Given the description of an element on the screen output the (x, y) to click on. 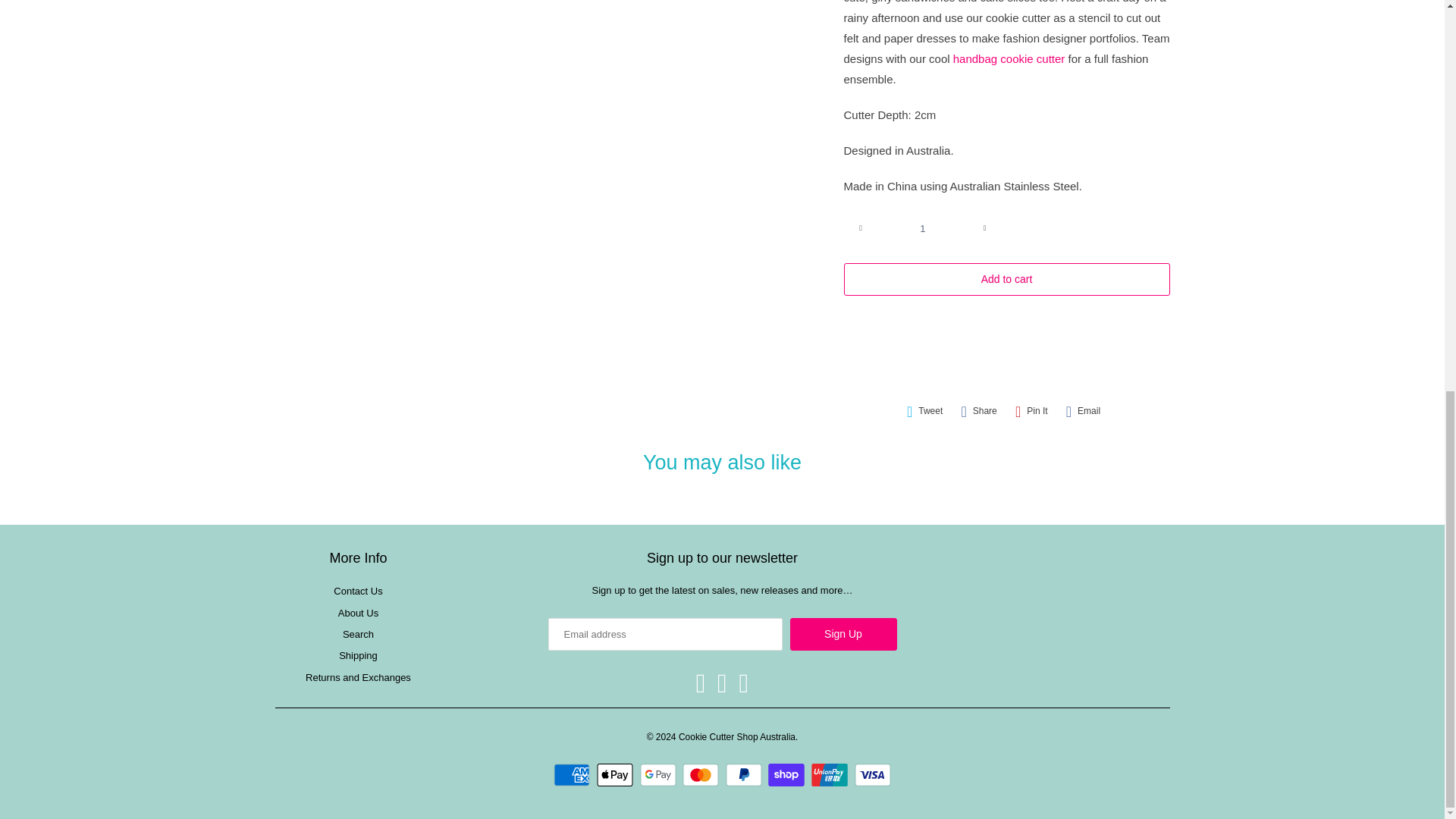
Shop Pay (788, 774)
Visa (872, 774)
PayPal (745, 774)
Share this on Facebook (978, 411)
American Express (573, 774)
Union Pay (830, 774)
Mastercard (702, 774)
Dress 9cm Cookie Cutter-Cookie Cutter Shop Australia (552, 101)
Sign Up (843, 634)
1 (922, 227)
Email this to a friend (1083, 411)
Share this on Pinterest (1031, 411)
Google Pay (659, 774)
Apple Pay (616, 774)
Share this on Twitter (924, 411)
